Given the description of an element on the screen output the (x, y) to click on. 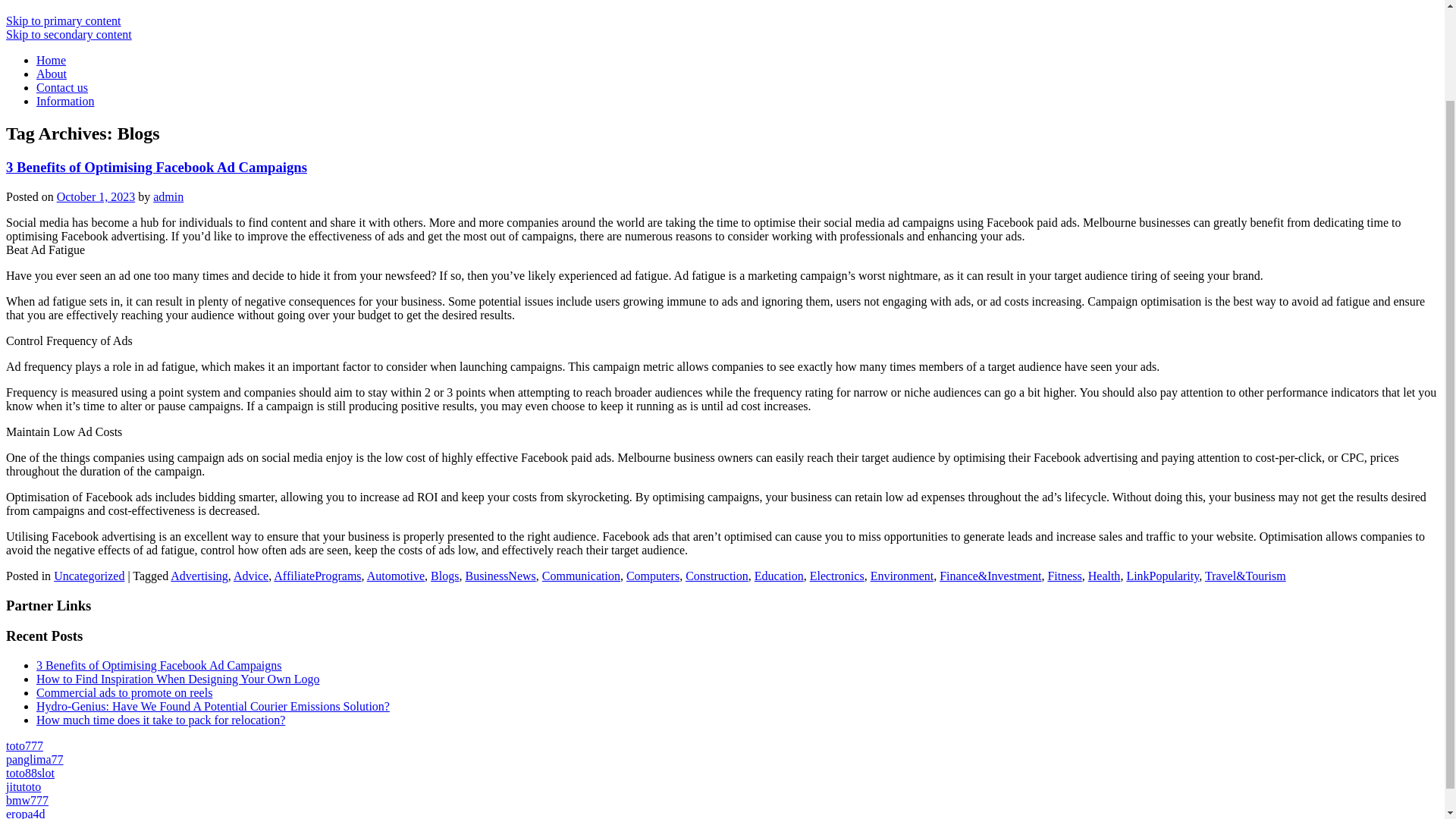
Advertising (199, 575)
Advice (249, 575)
About (51, 73)
toto88slot (30, 772)
AffiliatePrograms (317, 575)
View all posts by admin (167, 196)
Communication (580, 575)
Health (1104, 575)
Information (65, 101)
Construction (716, 575)
Home (50, 60)
BusinessNews (499, 575)
Commercial ads to promote on reels (124, 692)
Skip to primary content (62, 20)
October 1, 2023 (95, 196)
